Given the description of an element on the screen output the (x, y) to click on. 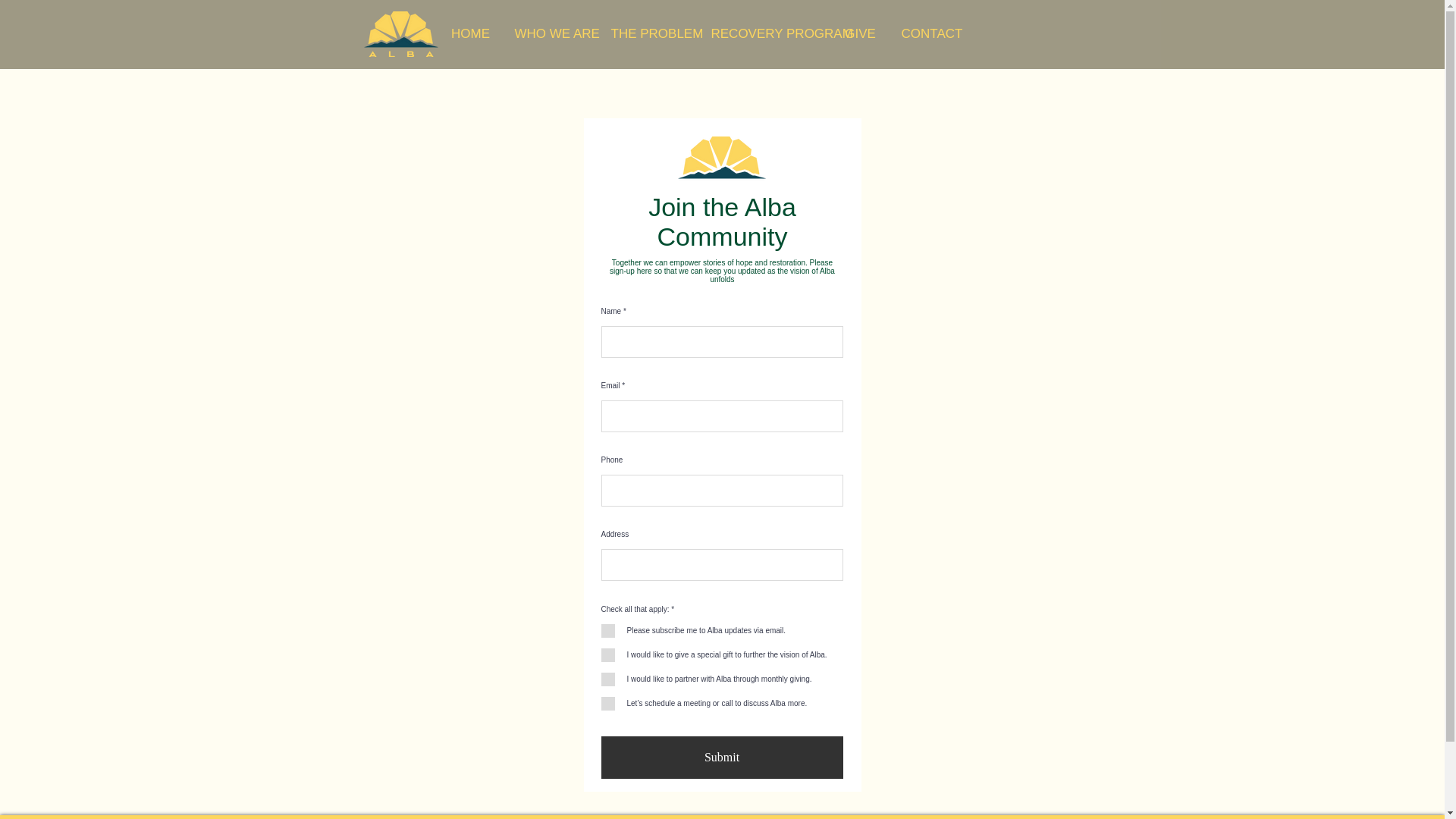
Submit (721, 757)
GIVE (860, 33)
CONTACT (929, 33)
WHO WE ARE (551, 33)
THE PROBLEM (648, 33)
HOME (470, 33)
RECOVERY PROGRAM (763, 33)
